Given the description of an element on the screen output the (x, y) to click on. 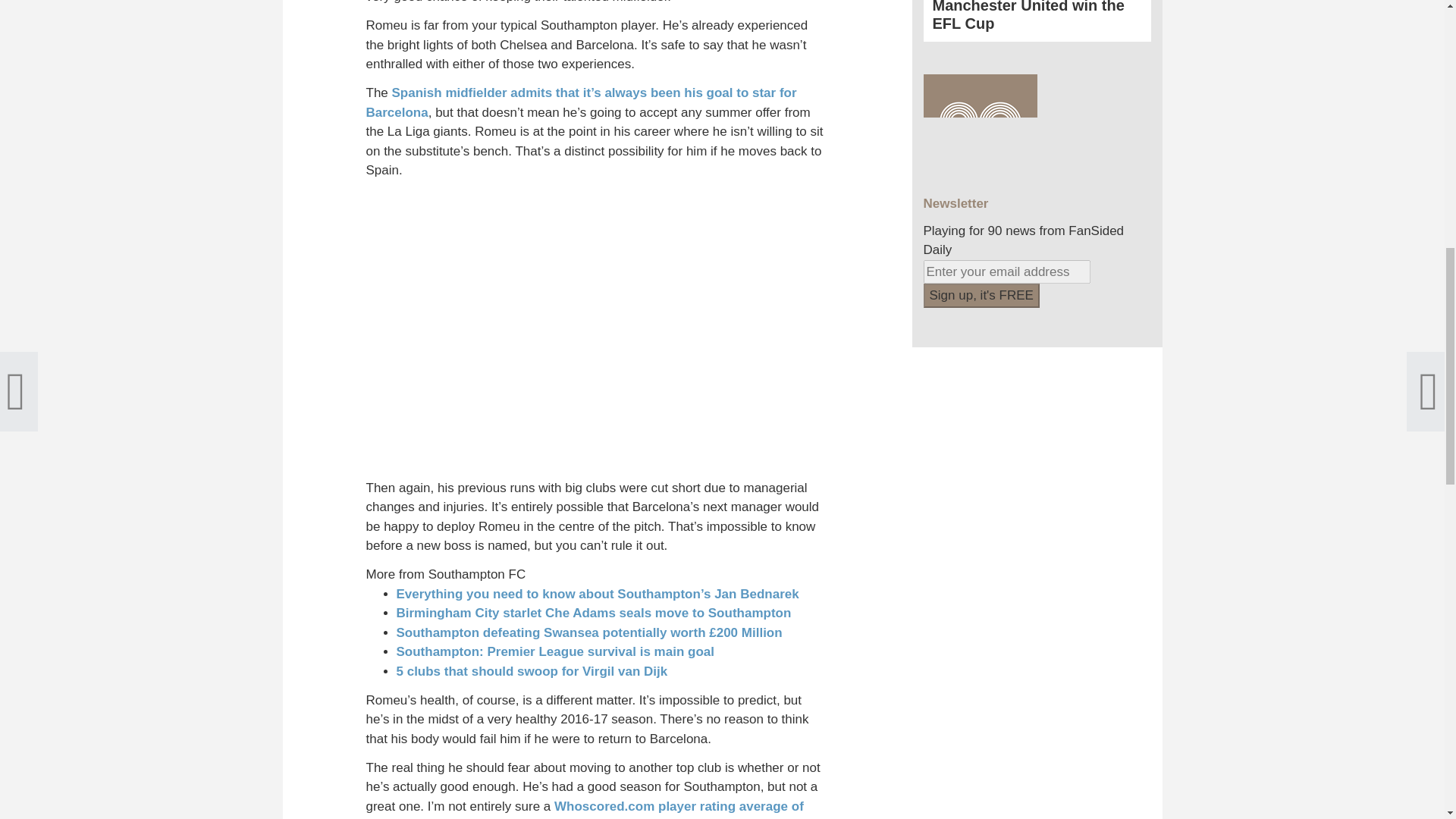
Manchester United win the EFL Cup (1037, 7)
Sign up, it's FREE (981, 295)
